Given the description of an element on the screen output the (x, y) to click on. 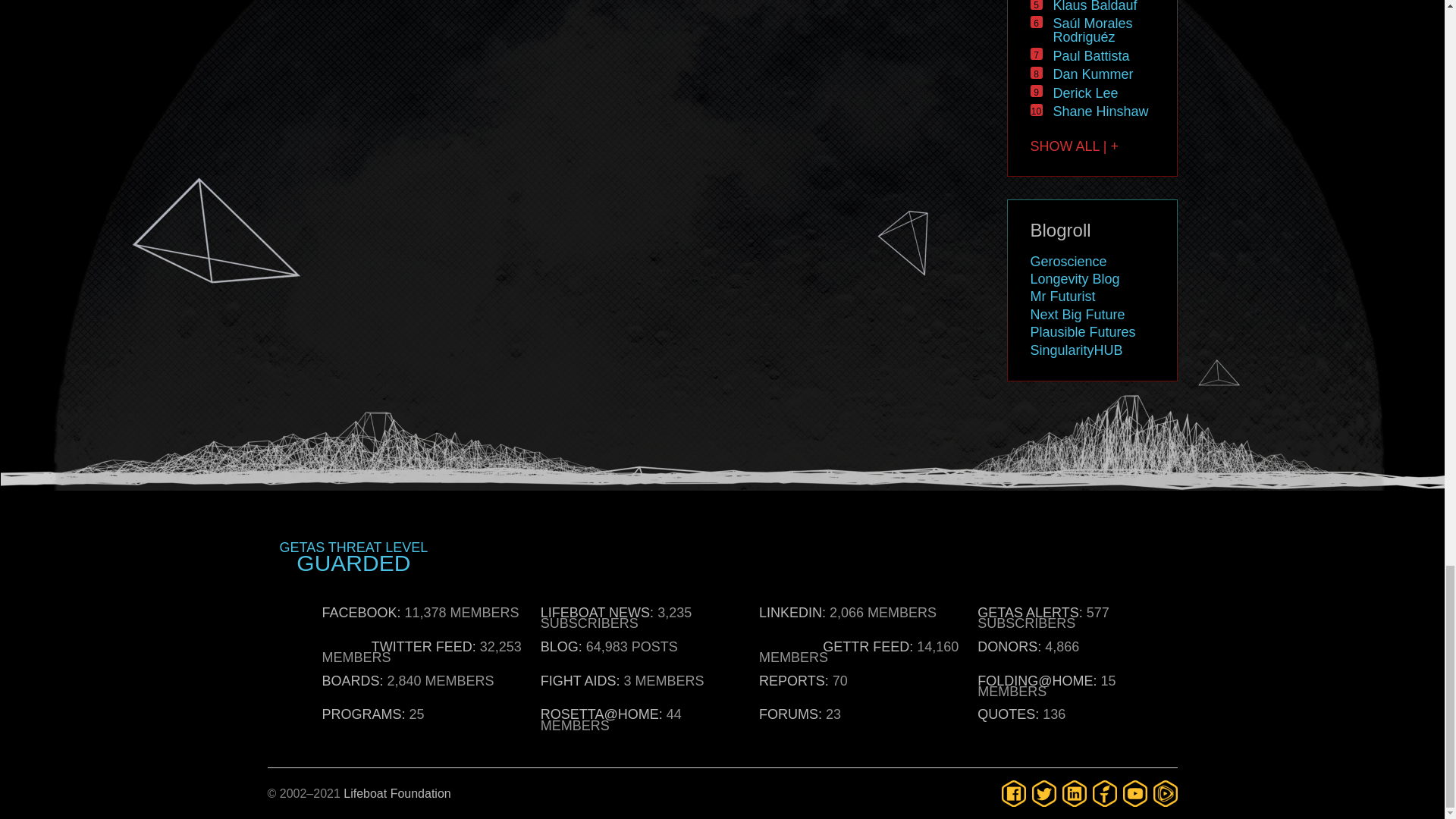
1371 posts by Derick Lee (1085, 92)
2590 posts by Klaus Baldauf (1094, 6)
1200 posts by Shane Hinshaw (1100, 111)
1654 posts by Dan Kummer (1092, 73)
2091 posts by Paul Battista (1090, 55)
